Given the description of an element on the screen output the (x, y) to click on. 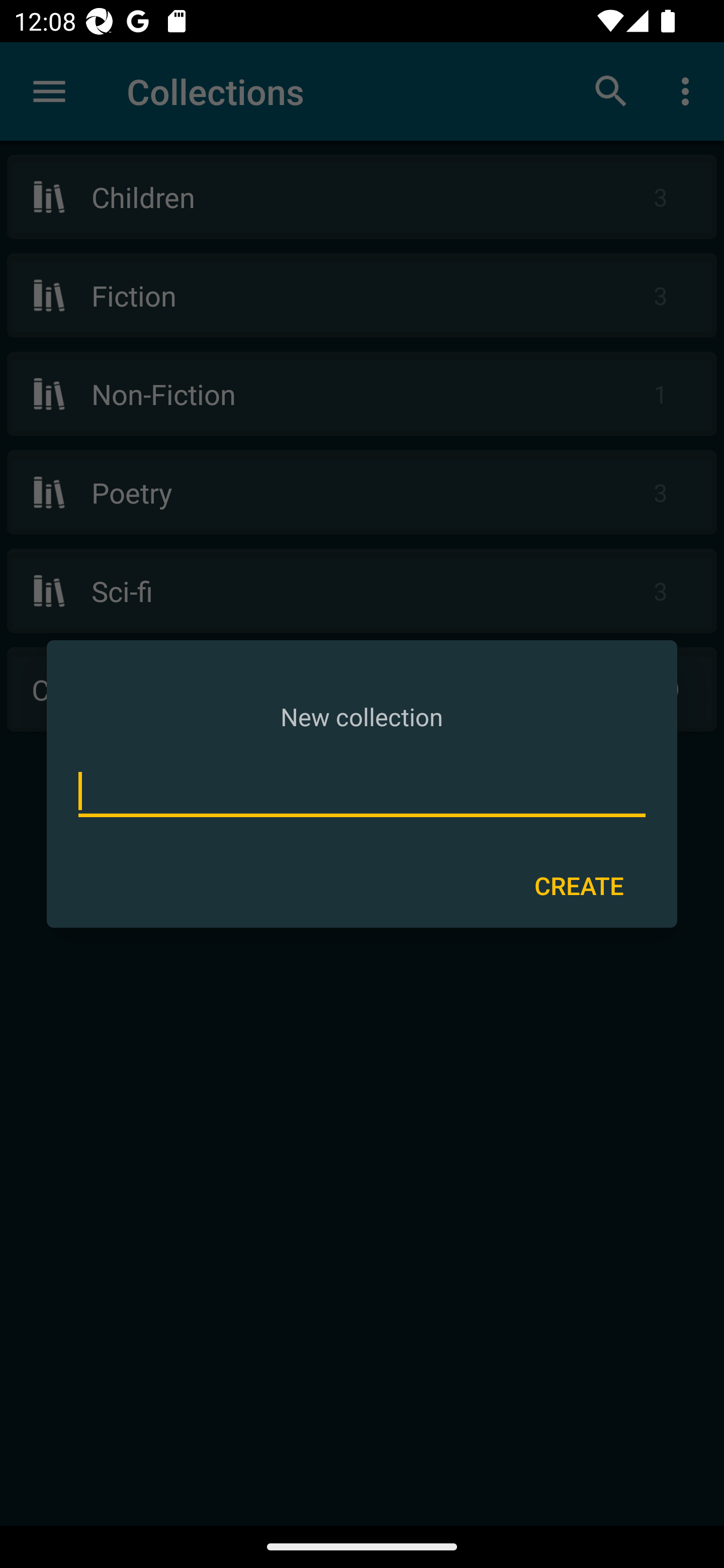
CREATE (578, 885)
